Given the description of an element on the screen output the (x, y) to click on. 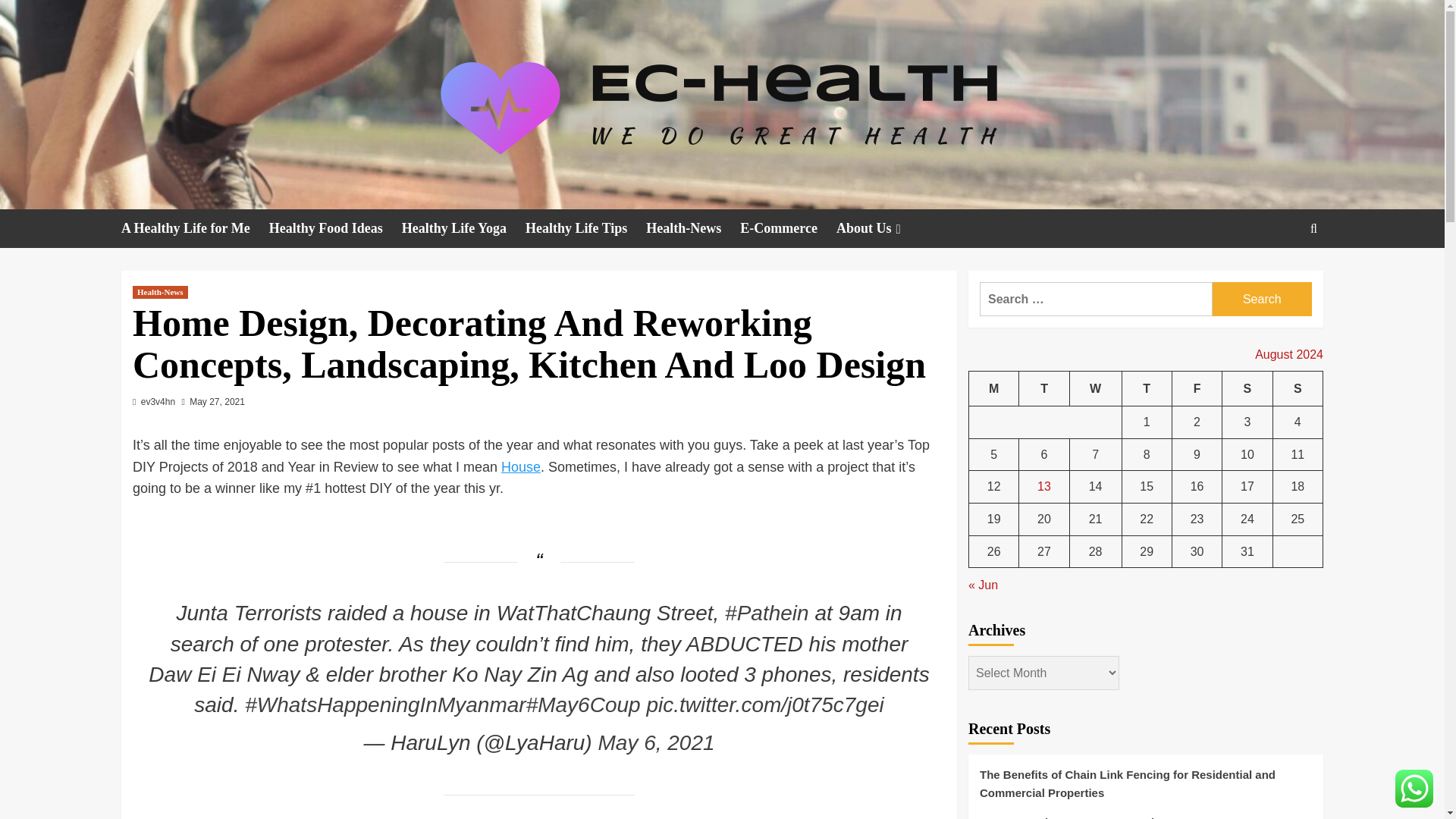
Health-News (692, 228)
Sunday (1297, 388)
Thursday (1146, 388)
Health-News (159, 291)
Saturday (1247, 388)
Search (1261, 298)
Healthy Life Yoga (463, 228)
Search (1278, 274)
Tuesday (1043, 388)
About Us (879, 228)
